Given the description of an element on the screen output the (x, y) to click on. 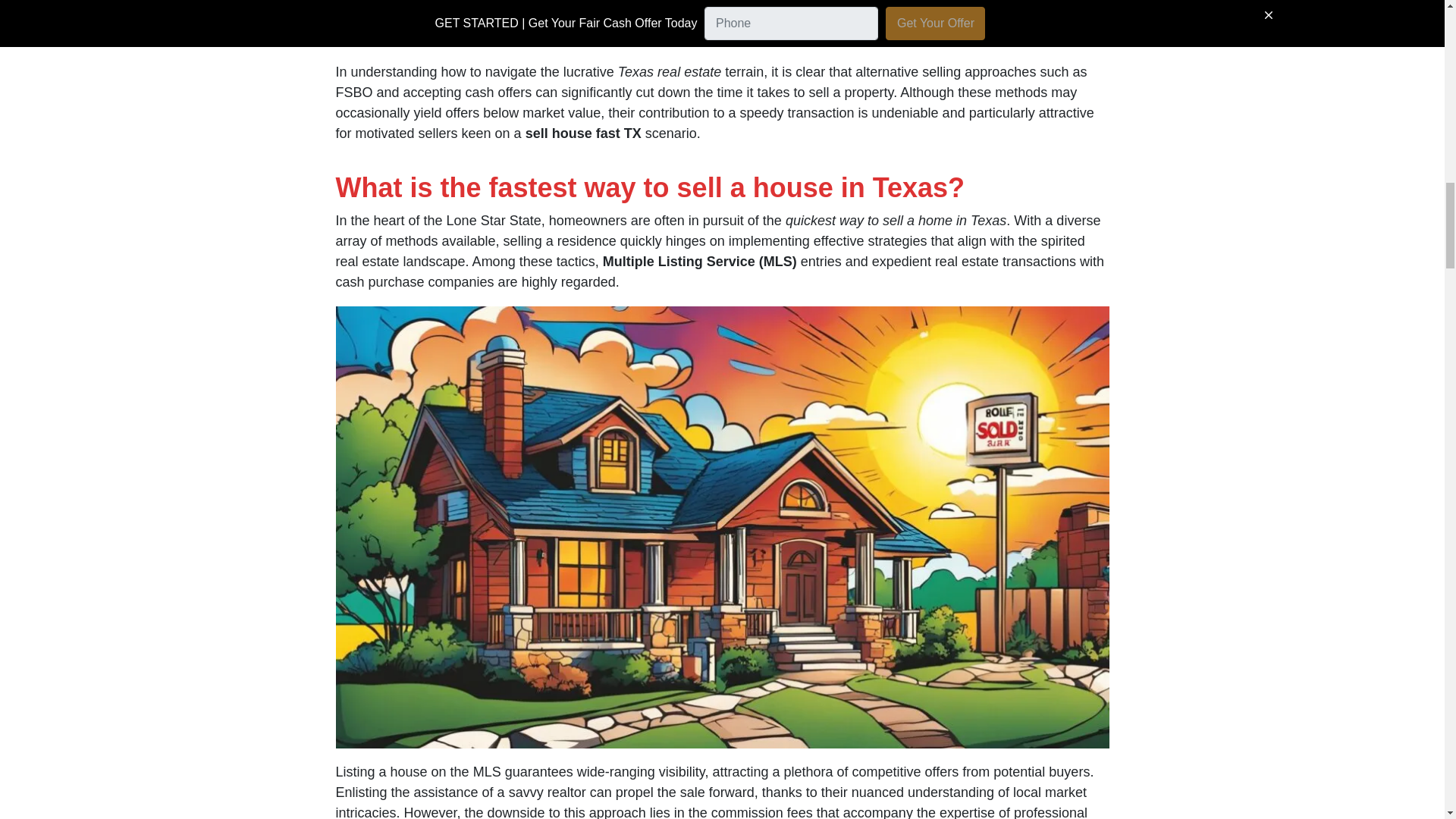
What is the fastest way to sell a house in Texas? (648, 187)
